Given the description of an element on the screen output the (x, y) to click on. 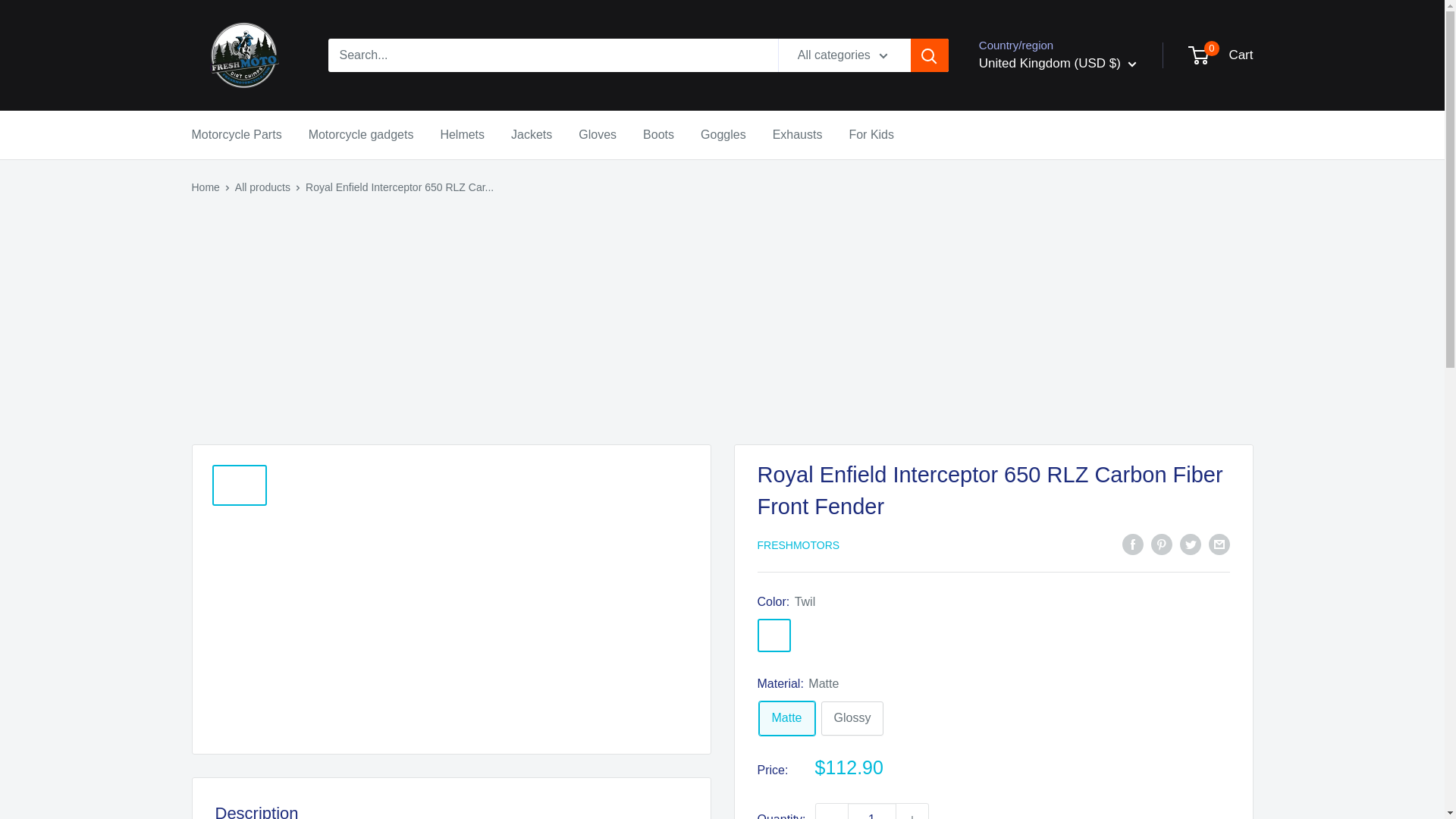
AM (1046, 252)
AX (1046, 136)
AI (1046, 206)
AD (1046, 183)
Freshmotorcycle (243, 55)
AU (1046, 299)
Decrease quantity by 1 (831, 811)
AG (1046, 229)
AL (1046, 159)
AW (1046, 275)
1 (871, 811)
Glossy (852, 718)
AT (1046, 321)
Twil (773, 635)
AZ (1046, 345)
